Given the description of an element on the screen output the (x, y) to click on. 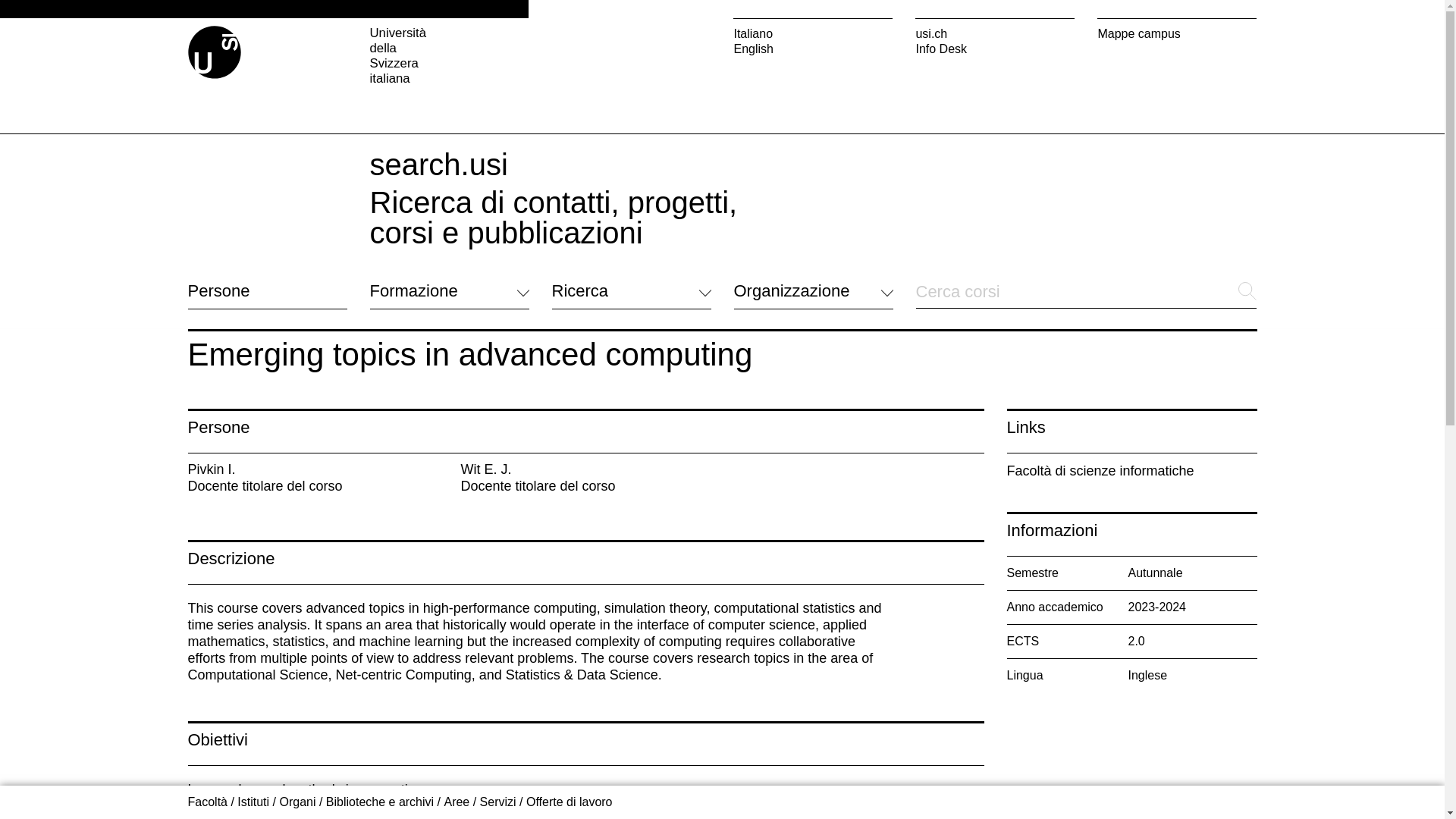
Italiano (812, 33)
Informazioni legali (600, 760)
Newsletter (761, 667)
Rapporto annuale (781, 686)
Wit E. J. (485, 468)
English (812, 48)
Persone (267, 291)
Altri contatti (219, 707)
Feedback sul sito (234, 725)
Campus Mendrisio (601, 660)
